Given the description of an element on the screen output the (x, y) to click on. 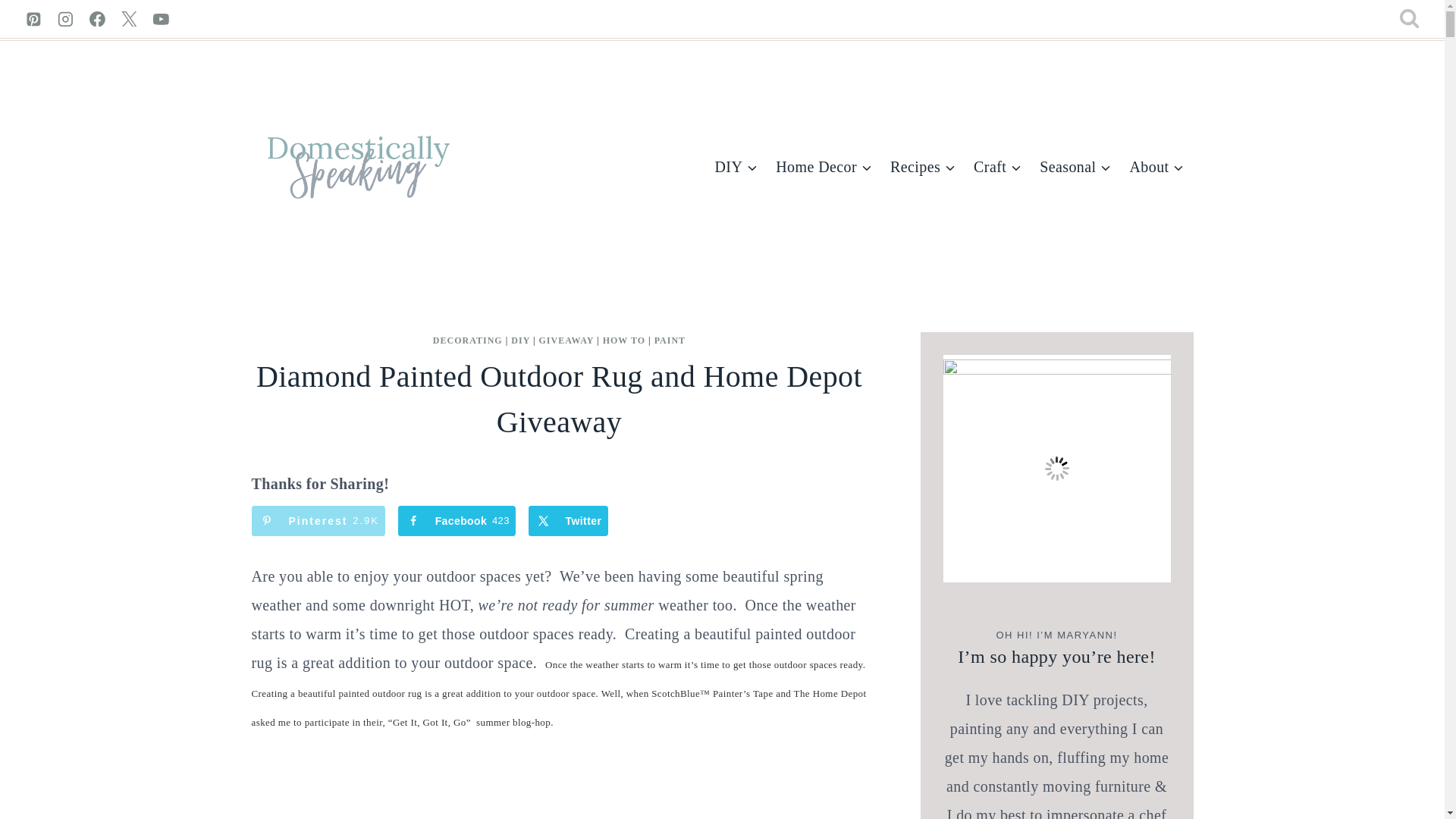
Recipes (921, 166)
Seasonal (1074, 166)
Share on Facebook (456, 521)
DIY (735, 166)
Craft (996, 166)
Share on X (568, 521)
Save to Pinterest (318, 521)
Home Decor (823, 166)
